Given the description of an element on the screen output the (x, y) to click on. 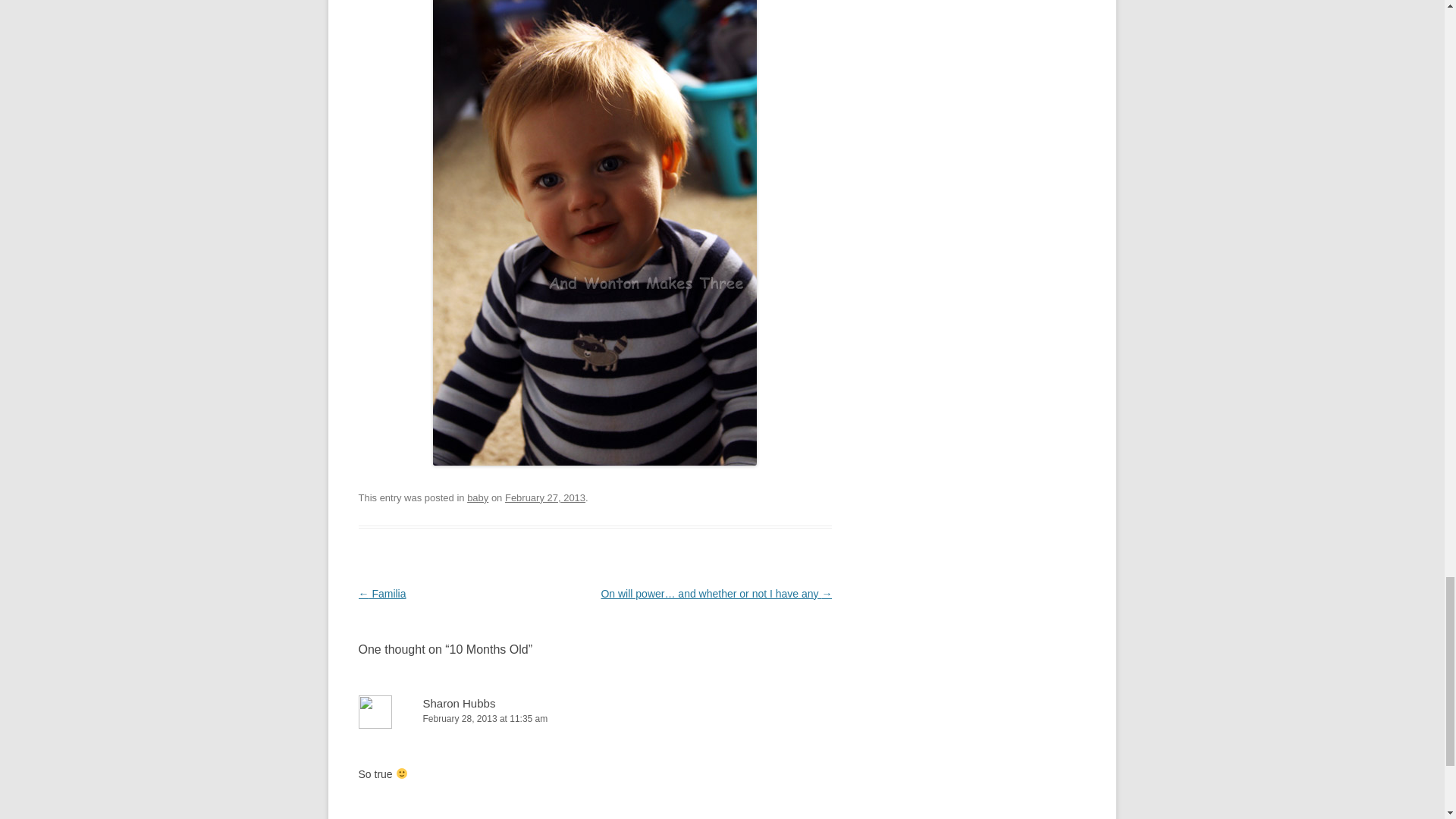
5:45 pm (545, 497)
February 28, 2013 at 11:35 am (594, 719)
baby (477, 497)
February 27, 2013 (545, 497)
